Given the description of an element on the screen output the (x, y) to click on. 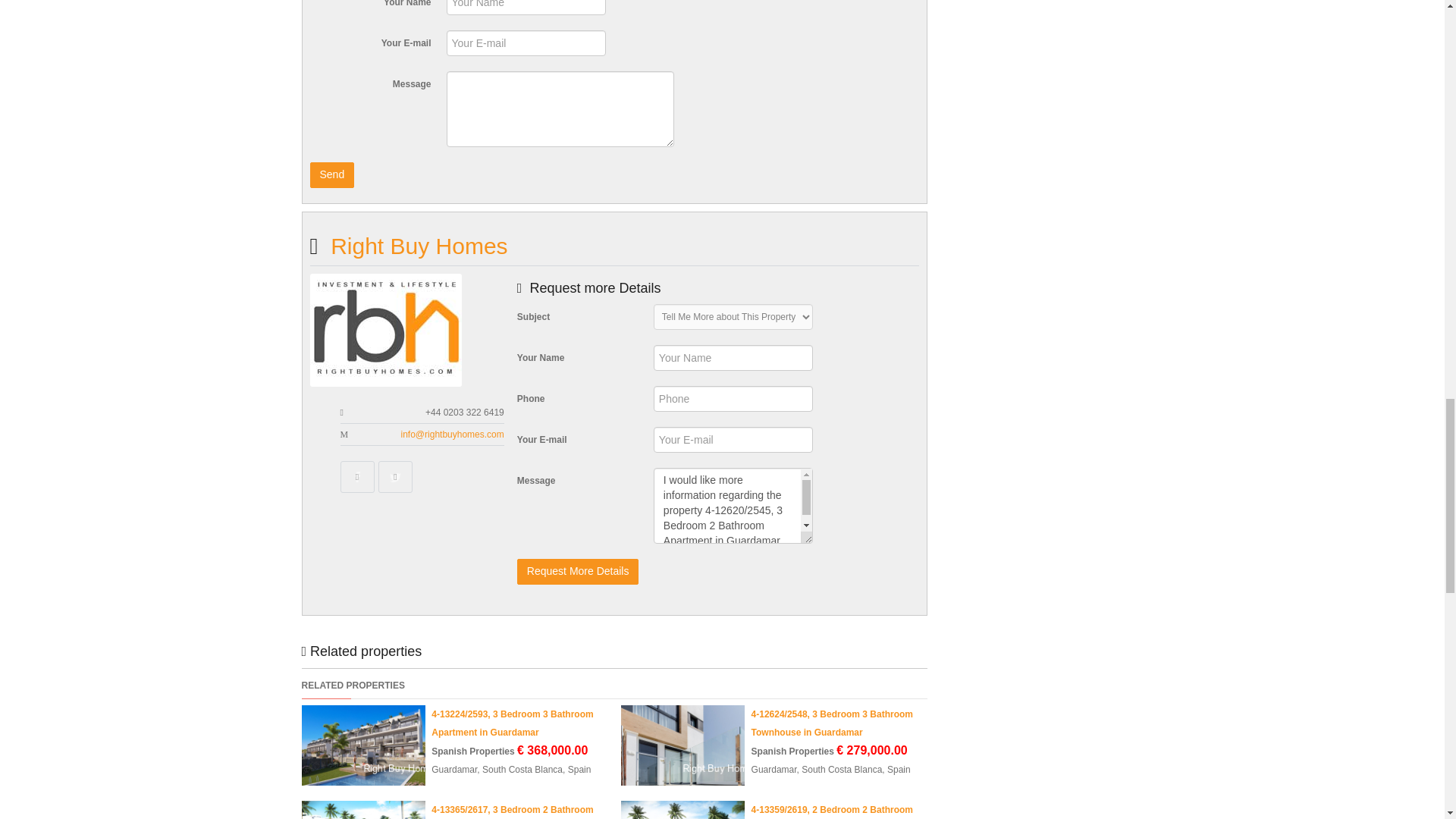
Agent info (418, 245)
